Given the description of an element on the screen output the (x, y) to click on. 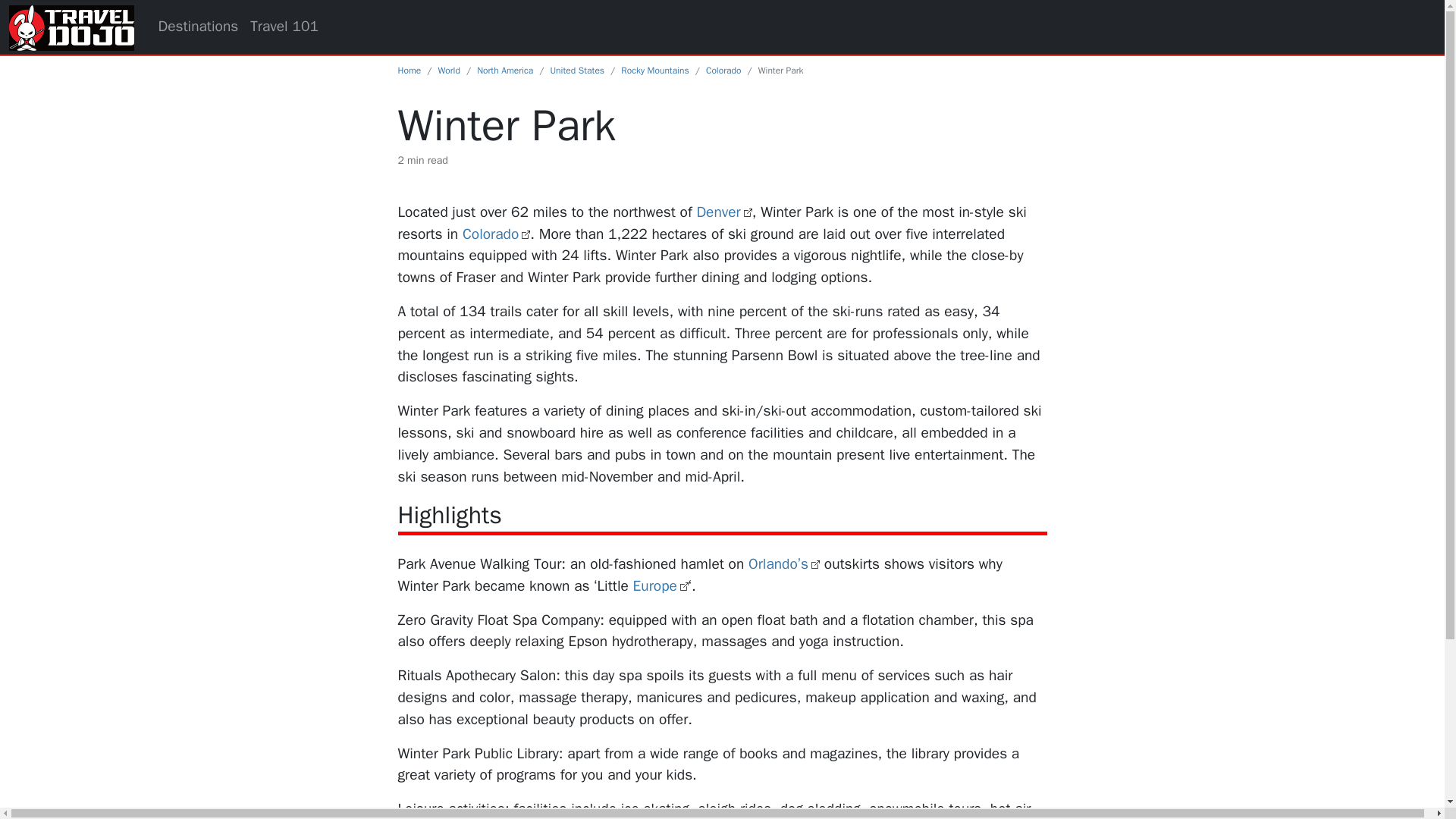
Colorado (496, 234)
Colorado (723, 70)
Home (408, 70)
Europe (660, 586)
World (449, 70)
North America (504, 70)
Destinations (197, 26)
Travel 101 (284, 26)
Denver (723, 212)
United States (577, 70)
Rocky Mountains (654, 70)
